Given the description of an element on the screen output the (x, y) to click on. 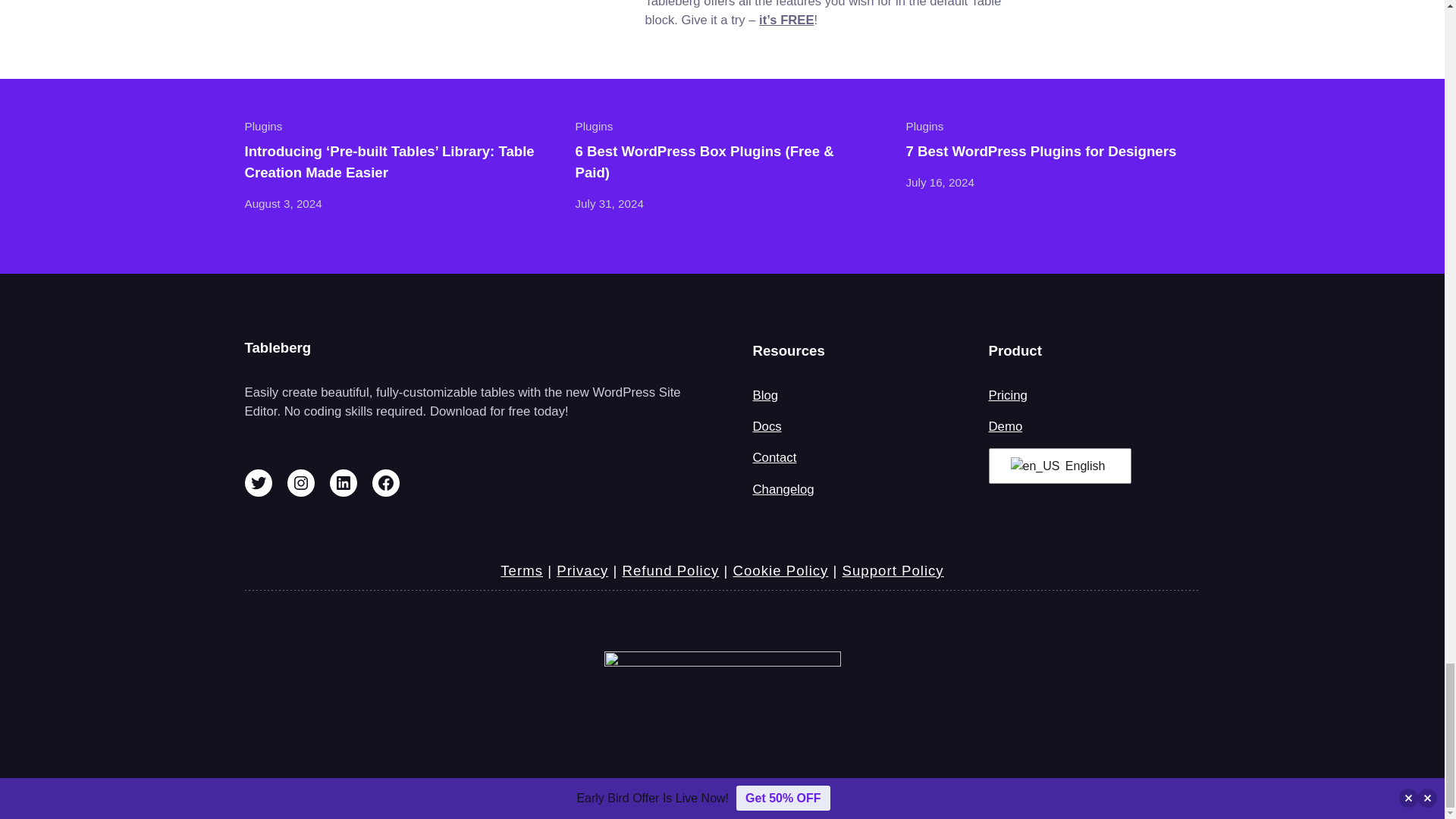
7 Best WordPress Plugins for Designers (1040, 151)
Instagram (300, 482)
Contact (774, 457)
English (1056, 466)
Blog (764, 395)
Plugins (263, 125)
Pricing (1007, 395)
Facebook (384, 482)
Twitter (257, 482)
Docs (766, 426)
English (1034, 466)
Plugins (924, 125)
Changelog (782, 489)
Plugins (593, 125)
LinkedIn (342, 482)
